Given the description of an element on the screen output the (x, y) to click on. 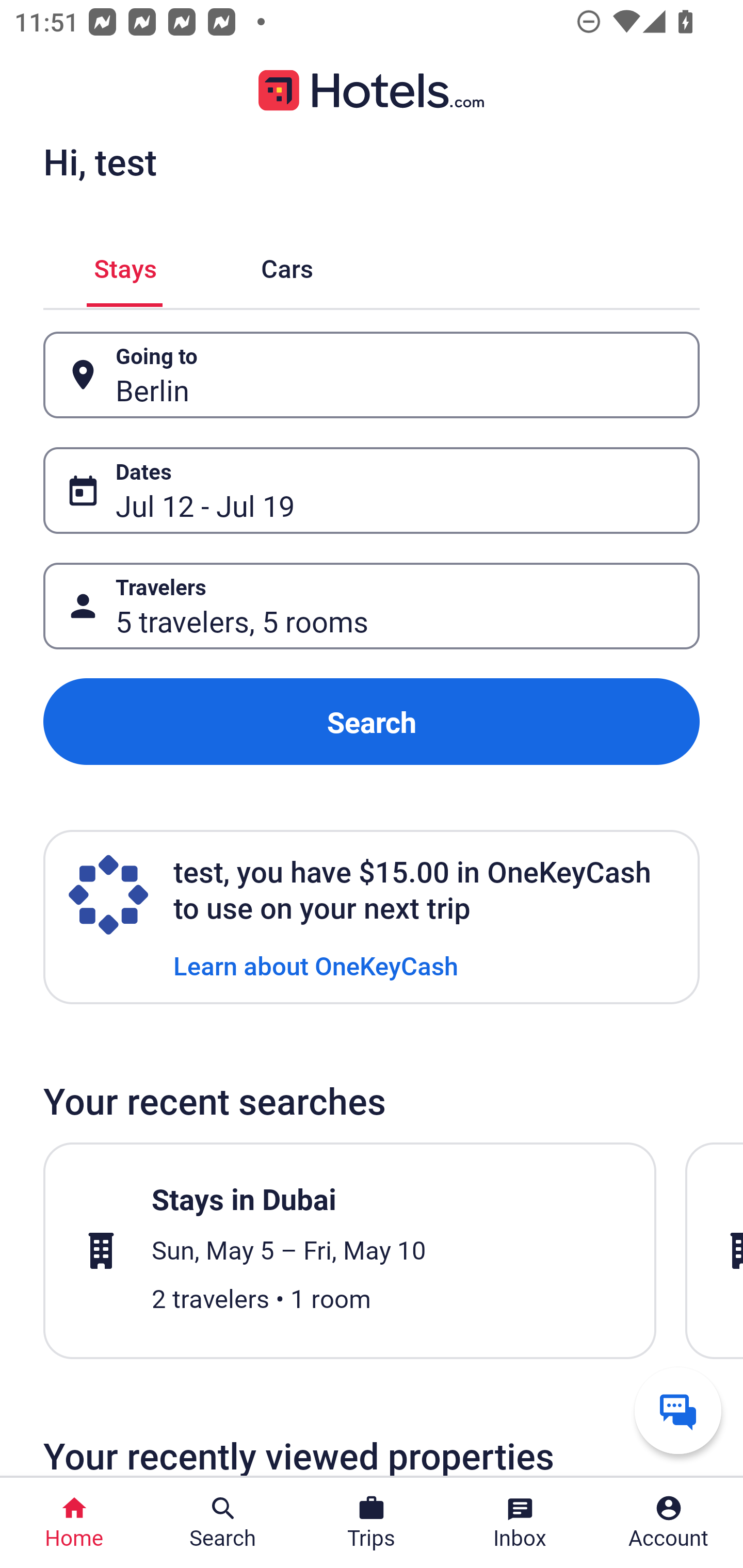
Hi, test (99, 161)
Cars (286, 265)
Going to Button Berlin (371, 375)
Dates Button Jul 12 - Jul 19 (371, 489)
Travelers Button 5 travelers, 5 rooms (371, 605)
Search (371, 721)
Learn about OneKeyCash Learn about OneKeyCash Link (315, 964)
Get help from a virtual agent (677, 1410)
Search Search Button (222, 1522)
Trips Trips Button (371, 1522)
Inbox Inbox Button (519, 1522)
Account Profile. Button (668, 1522)
